Given the description of an element on the screen output the (x, y) to click on. 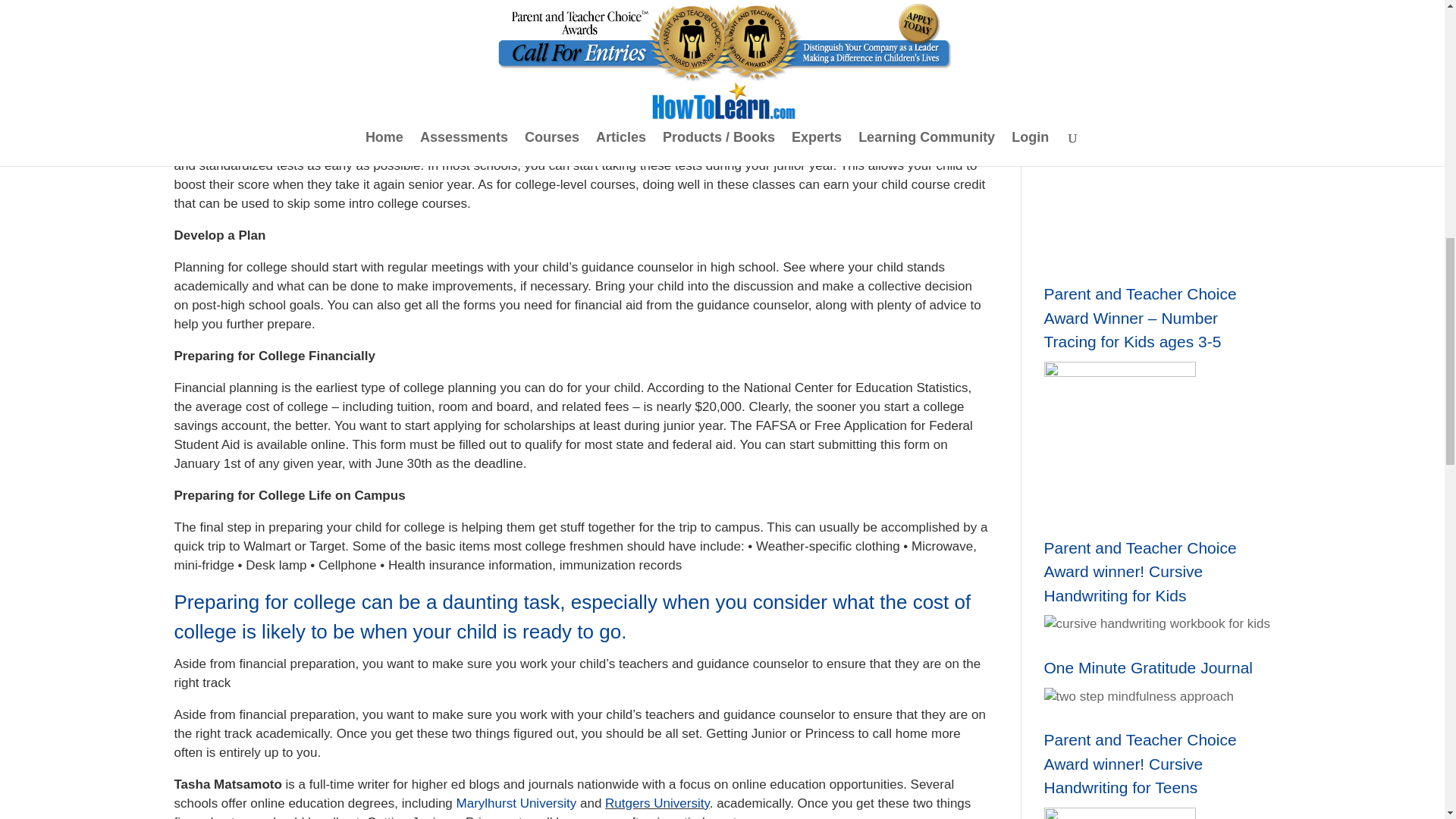
ABCs of Academic Success Course for LD Kids 5-13 (1157, 624)
Marylhurst University (516, 803)
Learn New Vocabulary in a Fun and Easy Way! (1138, 696)
Rutgers University (657, 803)
